Given the description of an element on the screen output the (x, y) to click on. 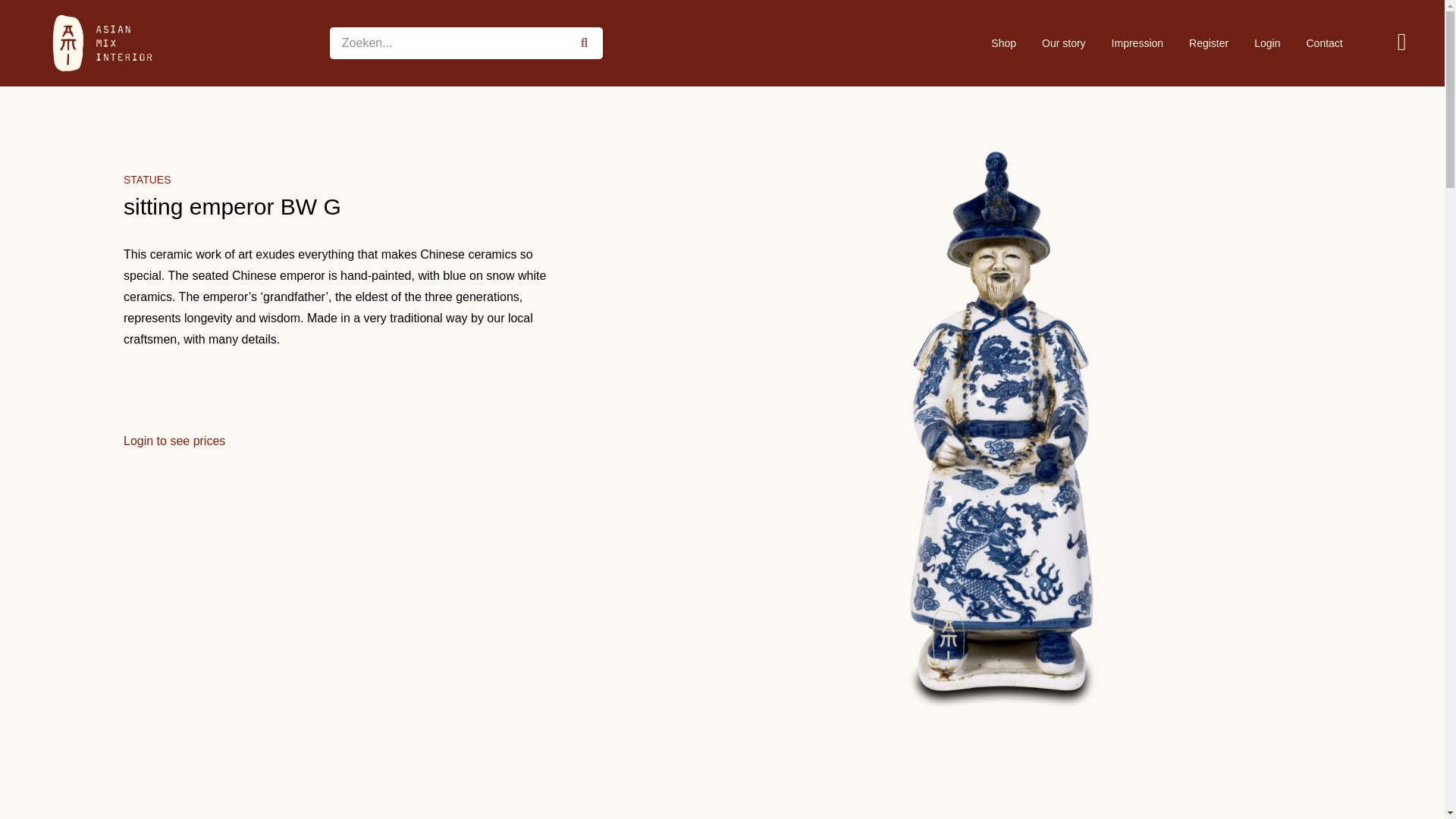
Register (1208, 43)
Login (1266, 43)
Our story (1064, 43)
Impression (1137, 43)
Contact (1324, 43)
DSC00715 (1002, 787)
Shop (1003, 43)
